Given the description of an element on the screen output the (x, y) to click on. 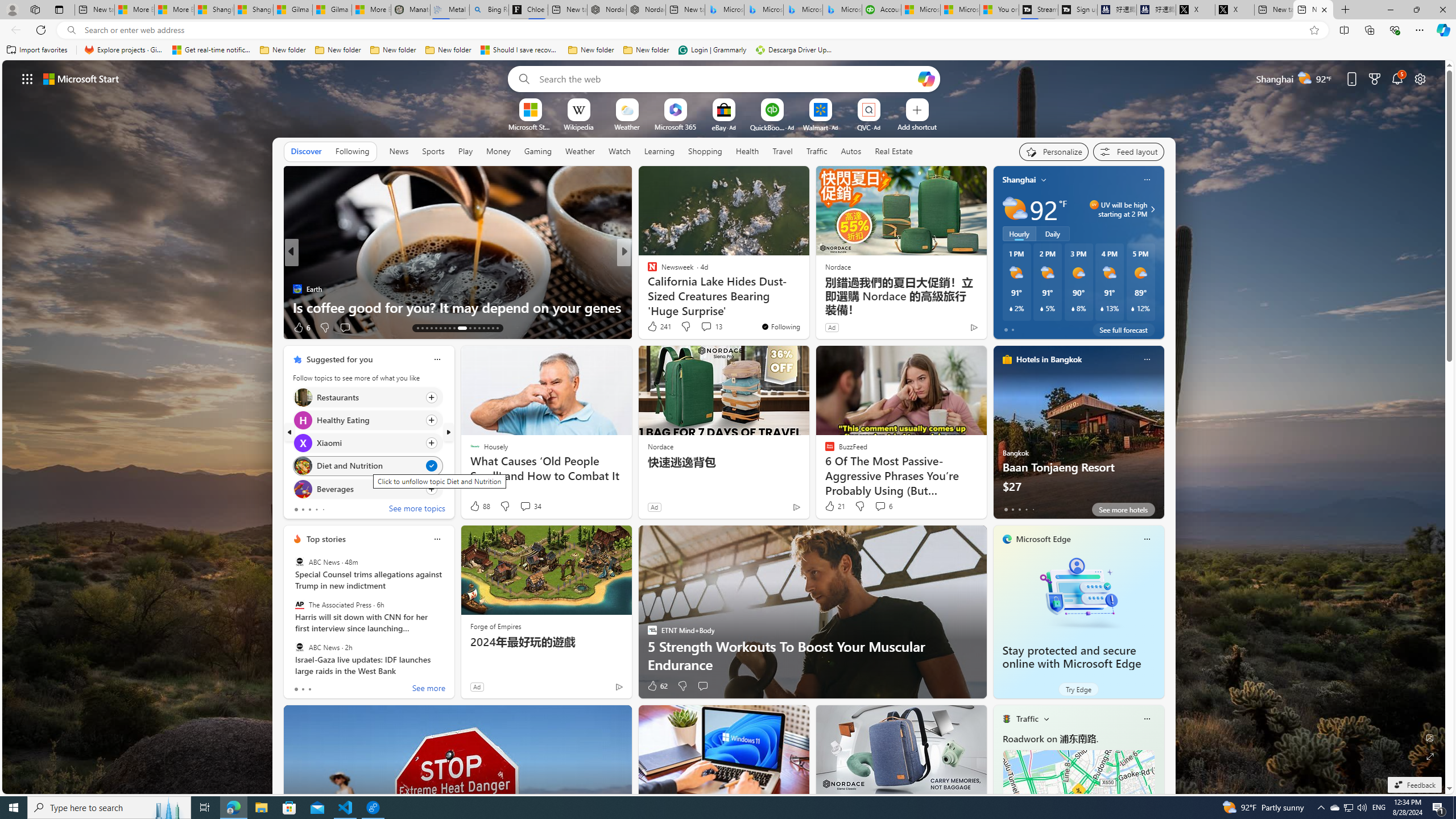
Should I save recovered Word documents? - Microsoft Support (519, 49)
Microsoft 365 (675, 126)
Traffic (1027, 718)
Gaming (537, 151)
AutomationID: backgroundImagePicture (723, 426)
Shopping (705, 151)
Add a site (916, 126)
Gilma and Hector both pose tropical trouble for Hawaii (331, 9)
Hotels in Bangkok (1048, 359)
App bar (728, 29)
New folder (646, 49)
Partly sunny (1014, 208)
AutomationID: tab-25 (478, 328)
View comments 6 Comment (879, 505)
AutomationID: waffle (27, 78)
